Given the description of an element on the screen output the (x, y) to click on. 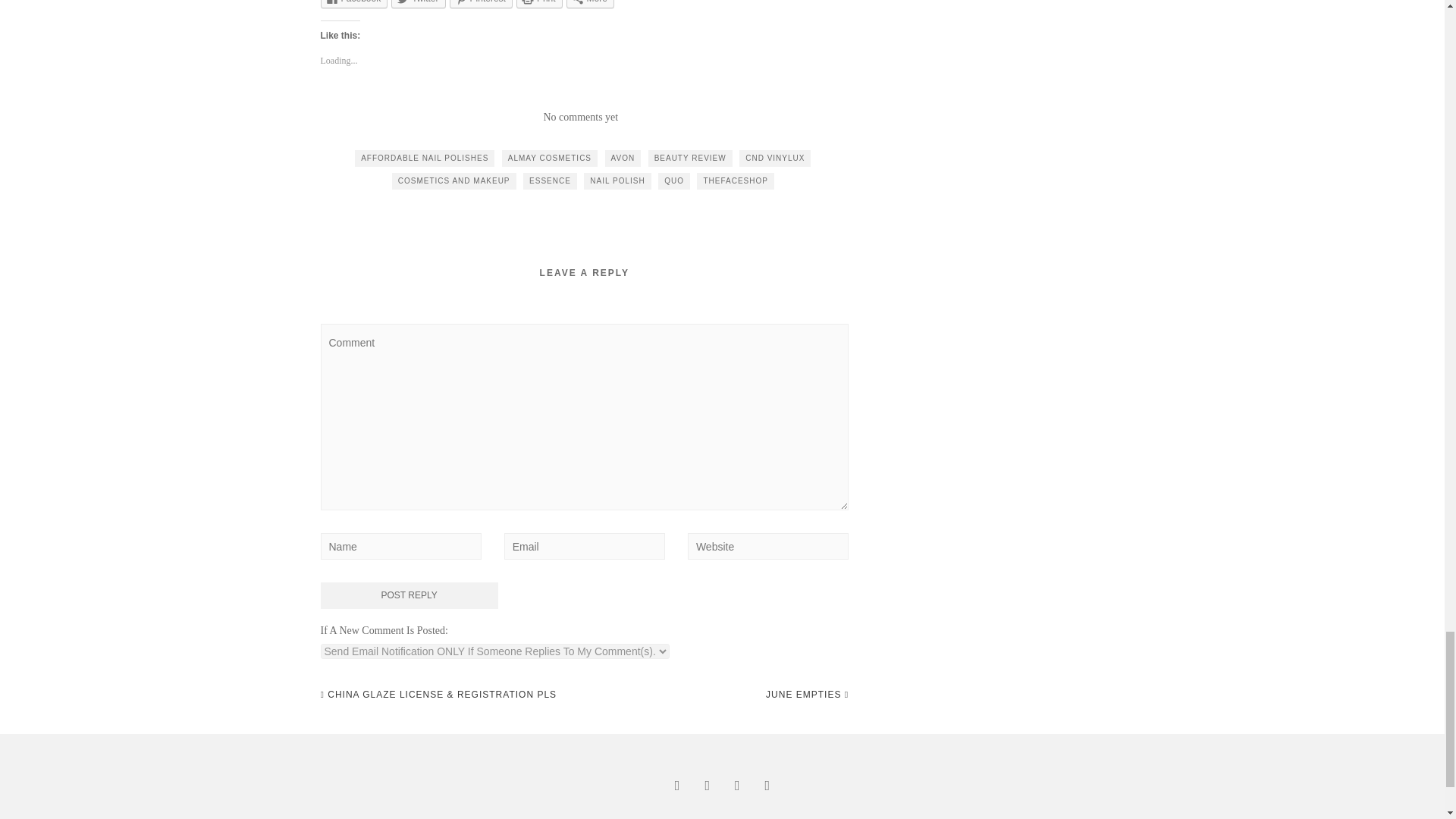
ALMAY COSMETICS (549, 158)
Click to share on Pinterest (480, 4)
Click to print (539, 4)
Twitter (418, 4)
Post Reply (408, 595)
Click to share on Twitter (418, 4)
Facebook (353, 4)
Pinterest (480, 4)
No comments yet (580, 116)
Click to share on Facebook (353, 4)
